Given the description of an element on the screen output the (x, y) to click on. 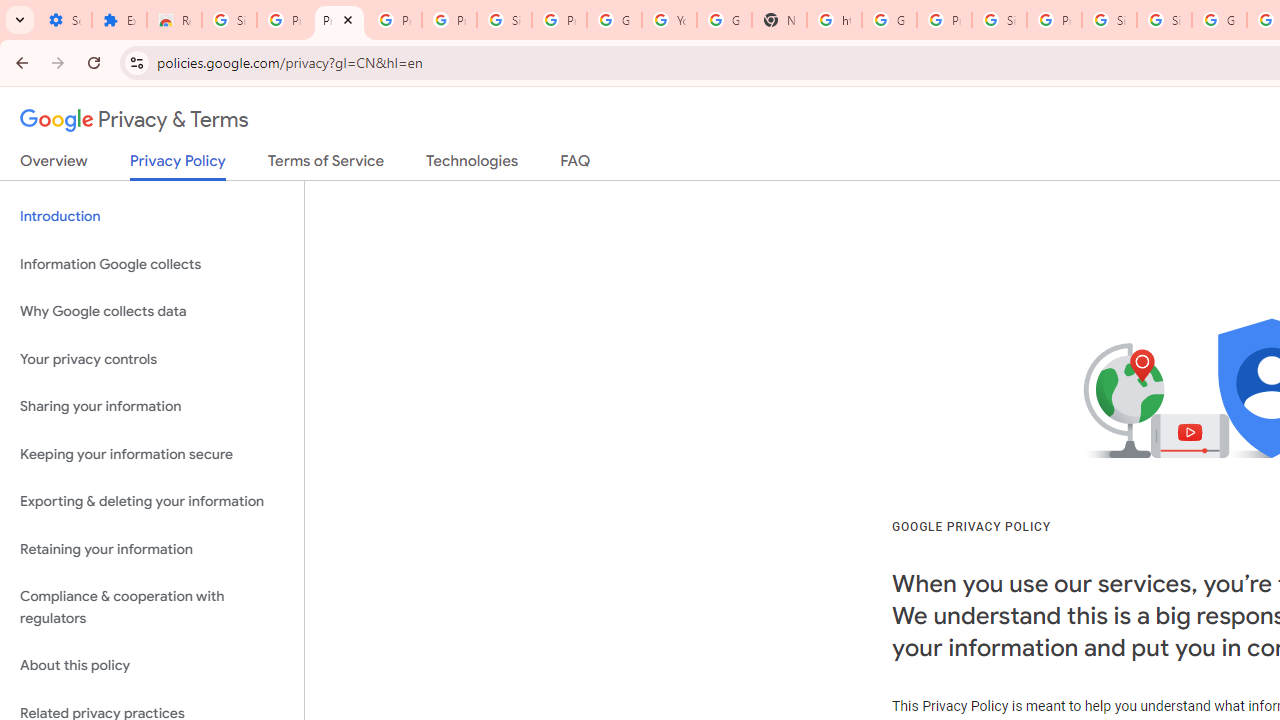
Google Account (614, 20)
Your privacy controls (152, 358)
https://scholar.google.com/ (833, 20)
Retaining your information (152, 548)
Introduction (152, 216)
Sign in - Google Accounts (998, 20)
About this policy (152, 666)
Exporting & deleting your information (152, 502)
